Given the description of an element on the screen output the (x, y) to click on. 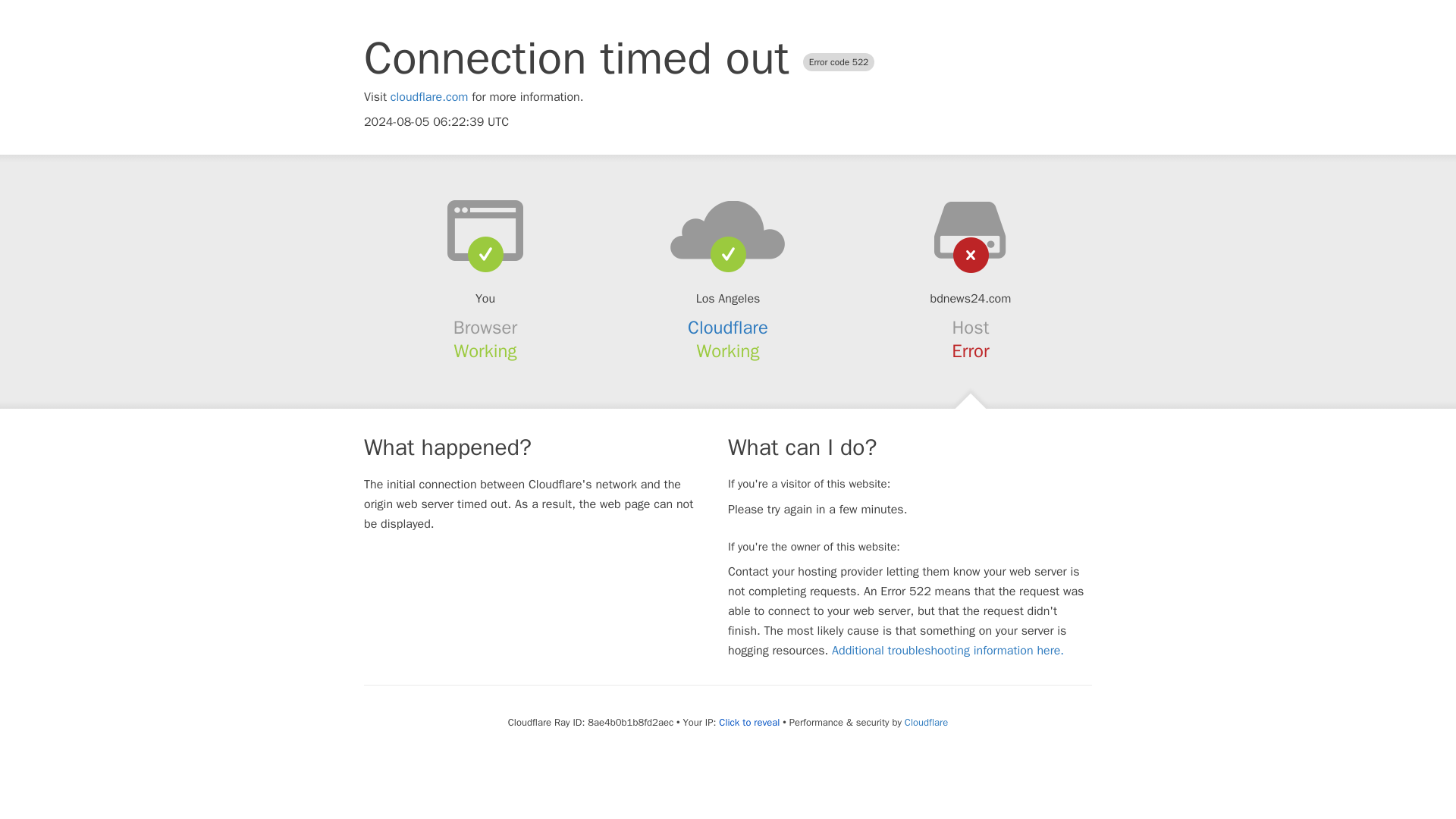
Additional troubleshooting information here. (947, 650)
Cloudflare (925, 721)
Cloudflare (727, 327)
cloudflare.com (429, 96)
Click to reveal (748, 722)
